Given the description of an element on the screen output the (x, y) to click on. 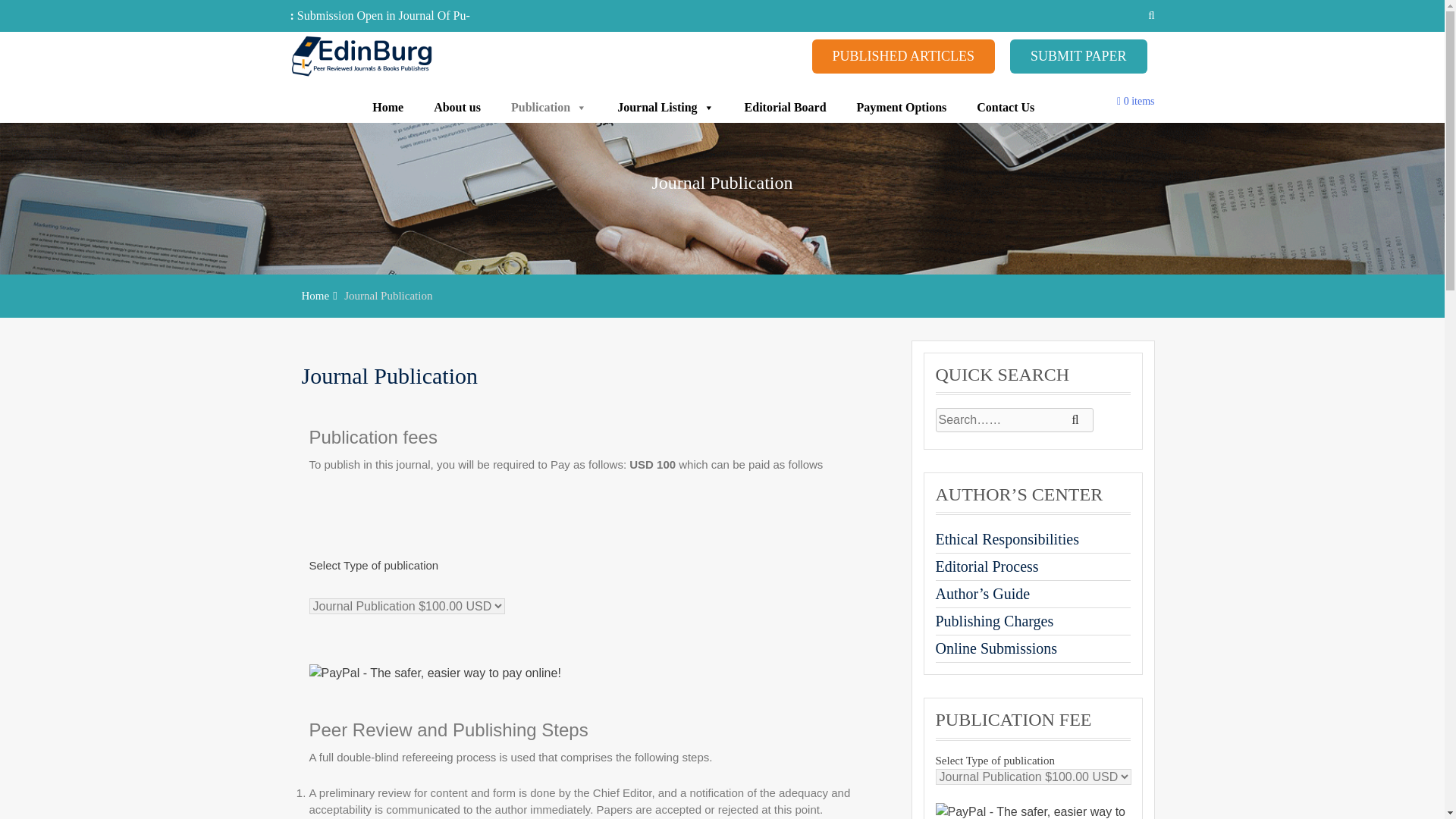
Home (387, 107)
About us (457, 107)
SUBMIT PAPER (1078, 56)
Start shopping (1135, 101)
PUBLISHED ARTICLES (902, 56)
Journal Listing (665, 107)
Publication (549, 107)
